Given the description of an element on the screen output the (x, y) to click on. 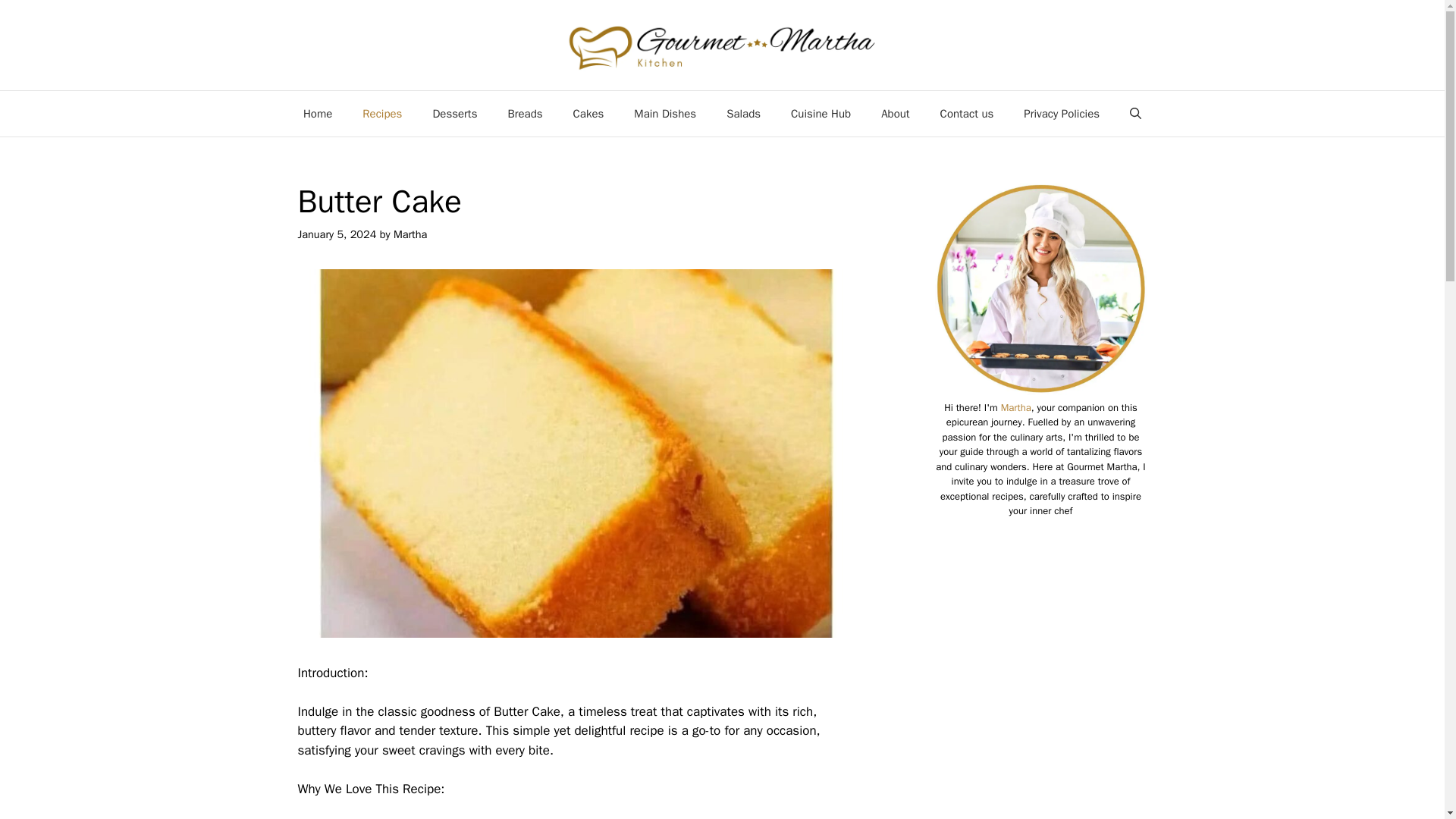
View all posts by Martha (409, 233)
About (895, 113)
Martha (1015, 407)
Recipes (381, 113)
Contact us (966, 113)
Home (317, 113)
Breads (524, 113)
Cuisine Hub (821, 113)
Main Dishes (664, 113)
Cakes (588, 113)
